Given the description of an element on the screen output the (x, y) to click on. 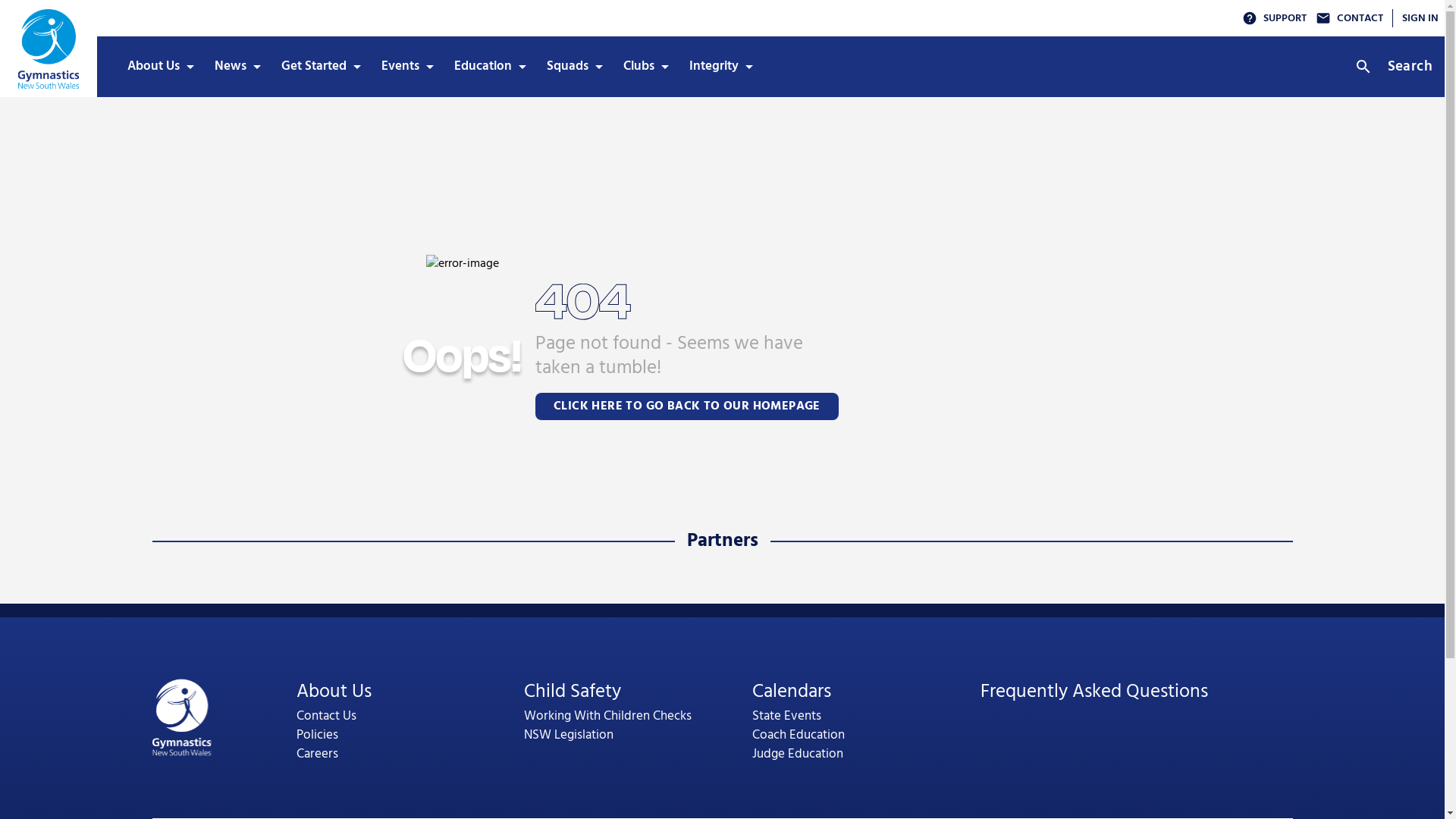
SIGN IN Element type: text (1420, 18)
Frequently Asked Questions Element type: text (1094, 691)
CLICK HERE TO GO BACK TO OUR HOMEPAGE Element type: text (686, 406)
Coach Education Element type: text (798, 734)
Clubs Element type: text (644, 66)
Education Element type: text (488, 66)
NSW Legislation Element type: text (568, 734)
Contact Us Element type: text (325, 716)
About Us Element type: text (332, 691)
About Us Element type: text (158, 66)
Partners Element type: text (722, 541)
State Events Element type: text (786, 716)
News Element type: text (235, 66)
Events Element type: text (405, 66)
Squads Element type: text (572, 66)
Search Element type: text (1396, 66)
Integrity Element type: text (719, 66)
Get Started Element type: text (319, 66)
SIGN IN Element type: text (1415, 18)
Child Safety Element type: text (572, 691)
Judge Education Element type: text (797, 753)
Careers Element type: text (316, 753)
Working With Children Checks Element type: text (607, 716)
CONTACT Element type: text (1349, 18)
Calendars Element type: text (791, 691)
Policies Element type: text (316, 734)
SUPPORT Element type: text (1274, 18)
